Given the description of an element on the screen output the (x, y) to click on. 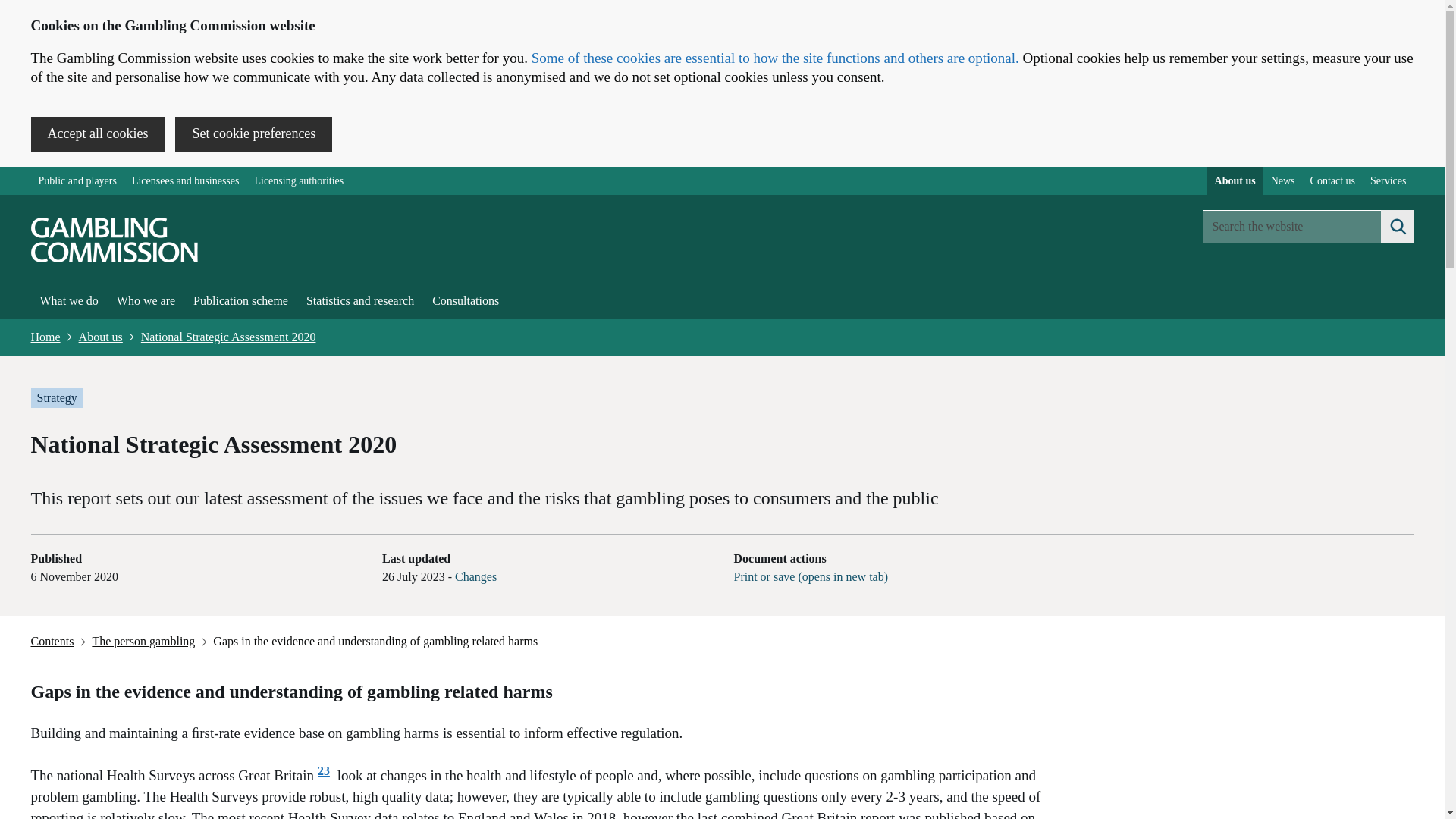
The person gambling (142, 641)
News (1283, 180)
Services (1387, 180)
Set cookie preferences (252, 134)
Accept all cookies (97, 134)
Publication scheme (240, 300)
Changes (475, 576)
23 (323, 770)
Contents (53, 641)
What we do (68, 300)
